Given the description of an element on the screen output the (x, y) to click on. 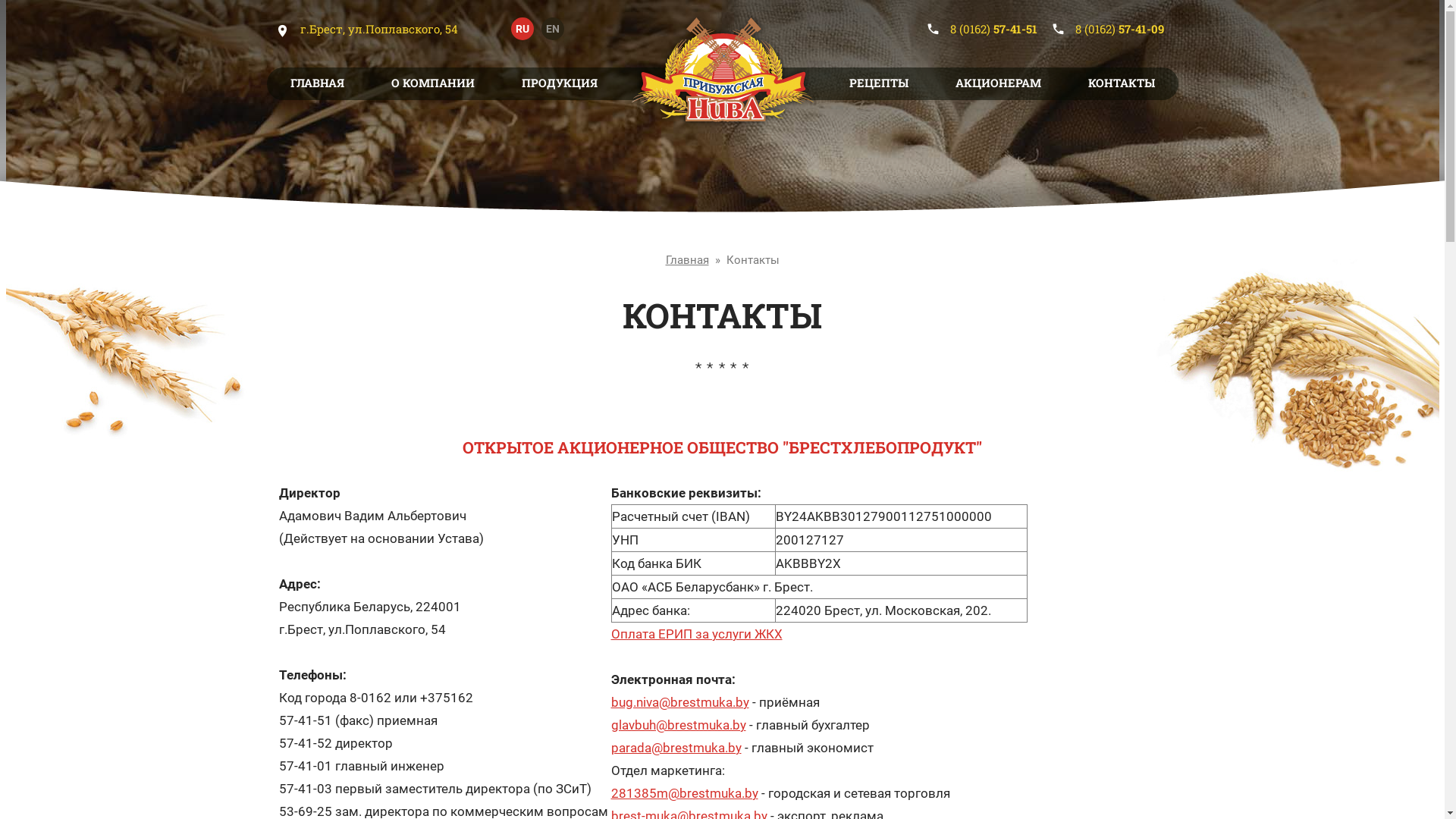
EN Element type: text (552, 28)
RU Element type: text (522, 28)
parada@brestmuka.by Element type: text (676, 747)
281385m@brestmuka.by Element type: text (684, 792)
glavbuh@brestmuka.by Element type: text (678, 724)
bug.niva@brestmuka.by Element type: text (680, 701)
